Given the description of an element on the screen output the (x, y) to click on. 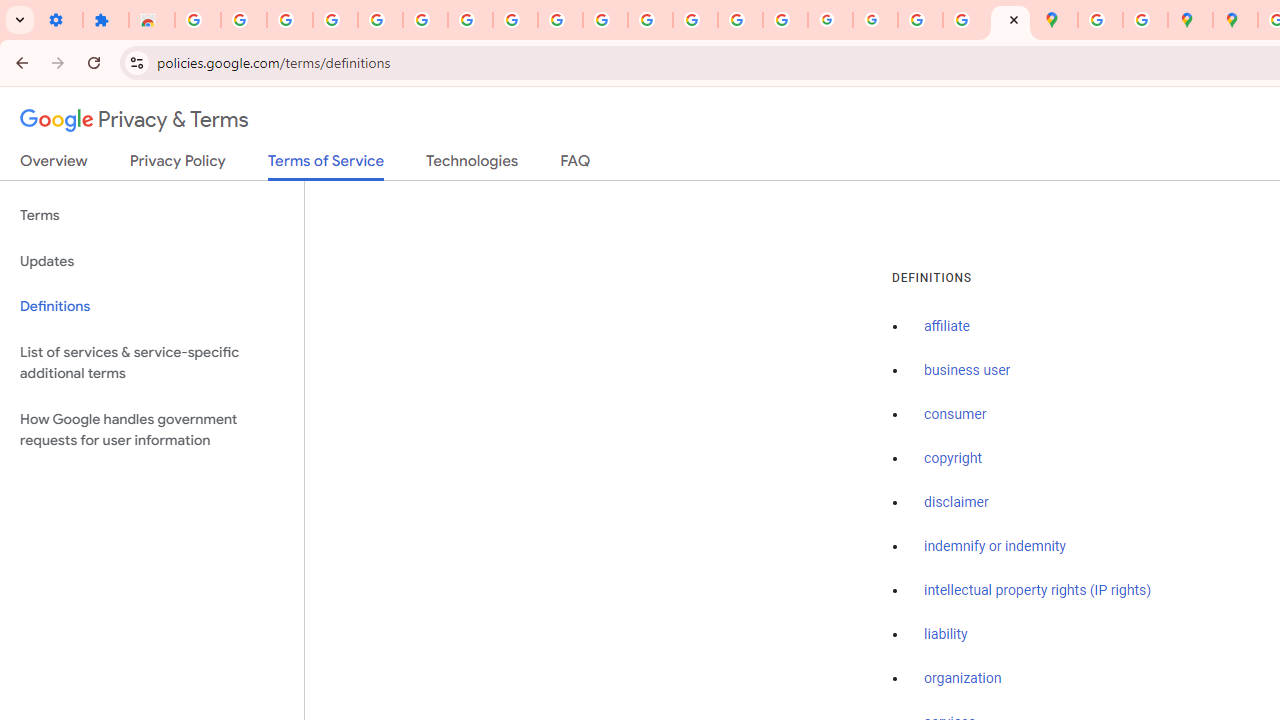
intellectual property rights (IP rights) (1038, 590)
Sign in - Google Accounts (198, 20)
copyright (952, 459)
Google Maps (1055, 20)
